Given the description of an element on the screen output the (x, y) to click on. 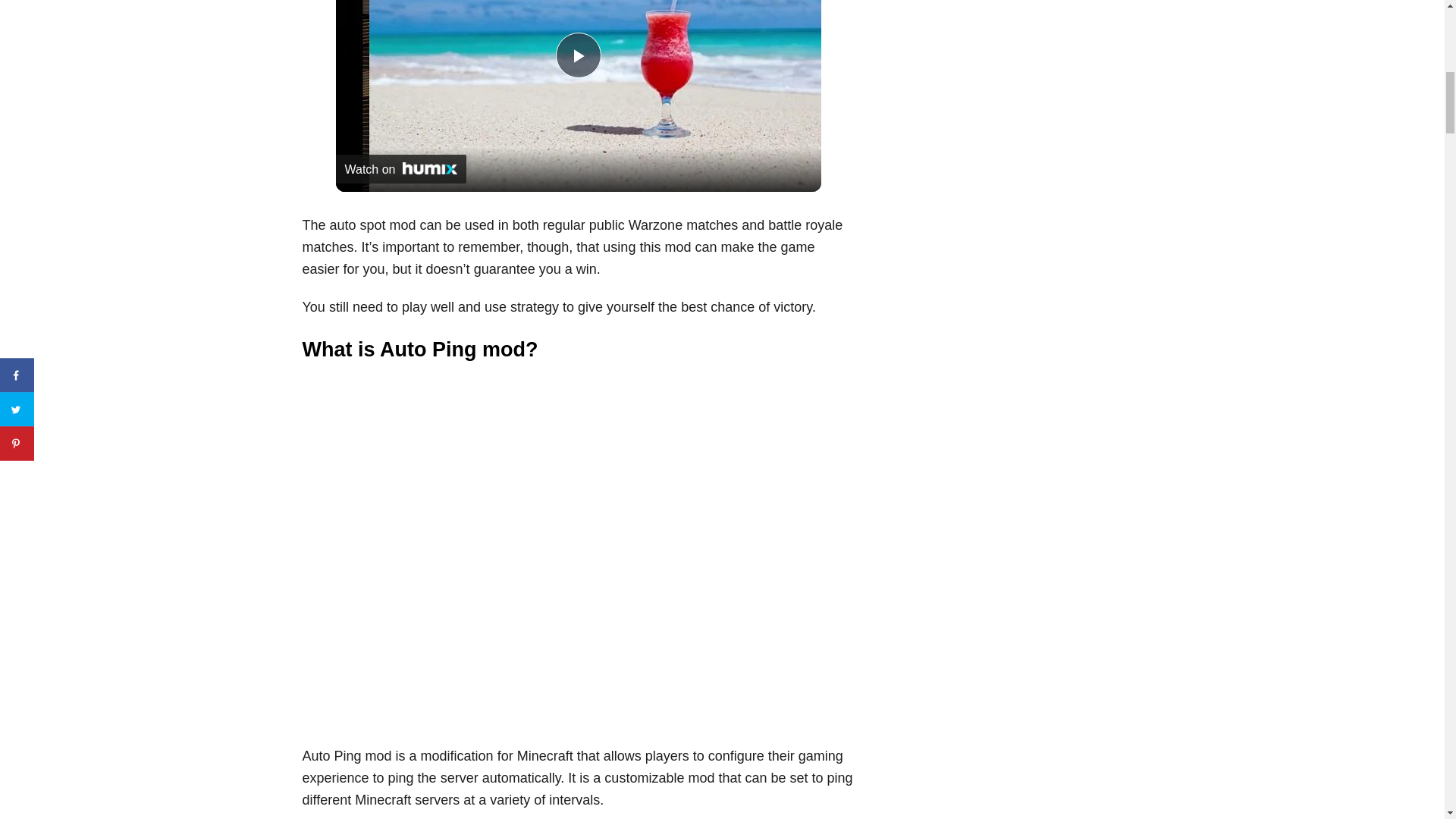
Play Video (576, 54)
Watch on (399, 168)
Play Video (576, 54)
